Given the description of an element on the screen output the (x, y) to click on. 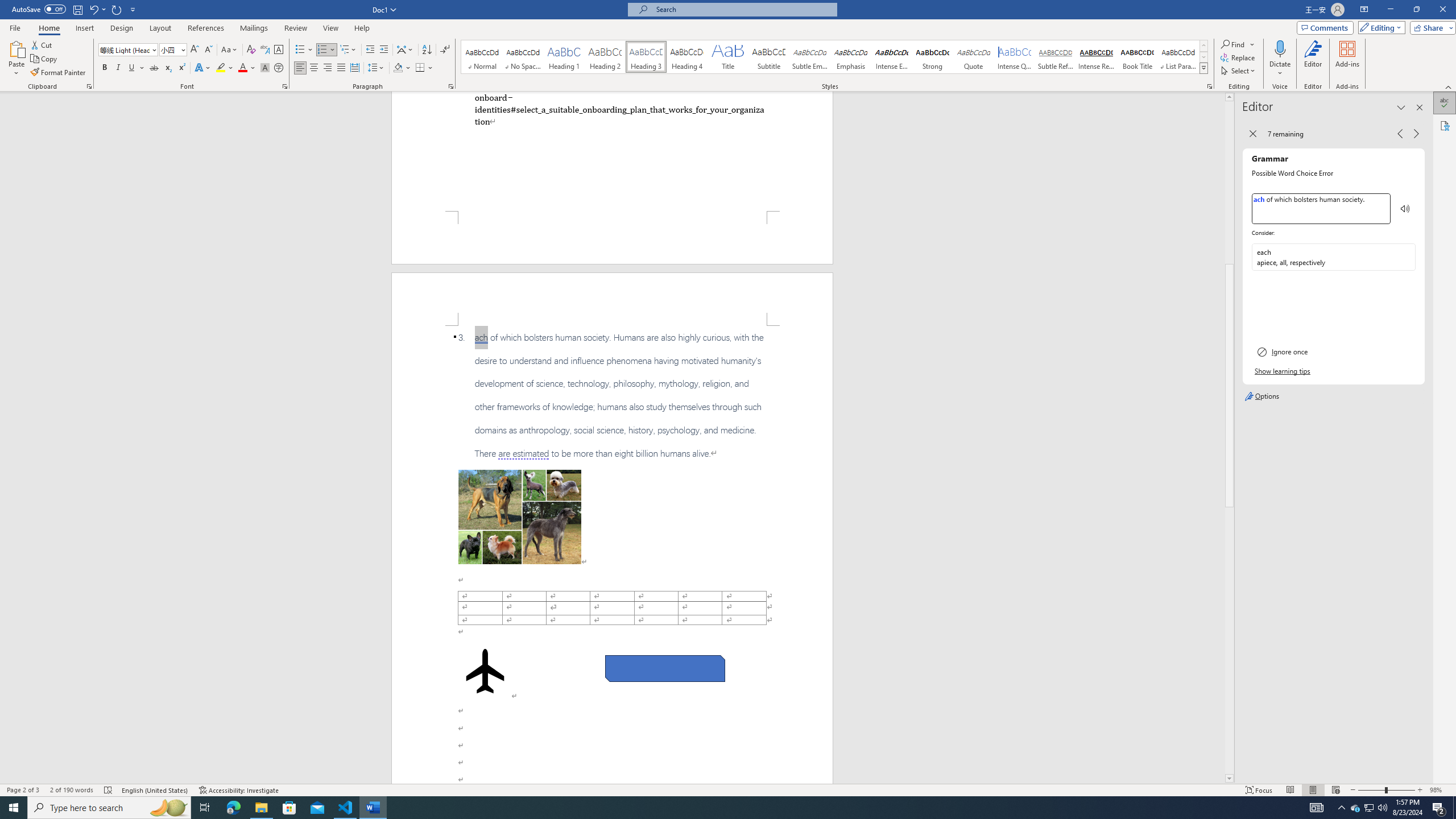
Accessibility (1444, 125)
Shrink Font (208, 49)
Previous Issue, 7 remaining (1399, 133)
